Given the description of an element on the screen output the (x, y) to click on. 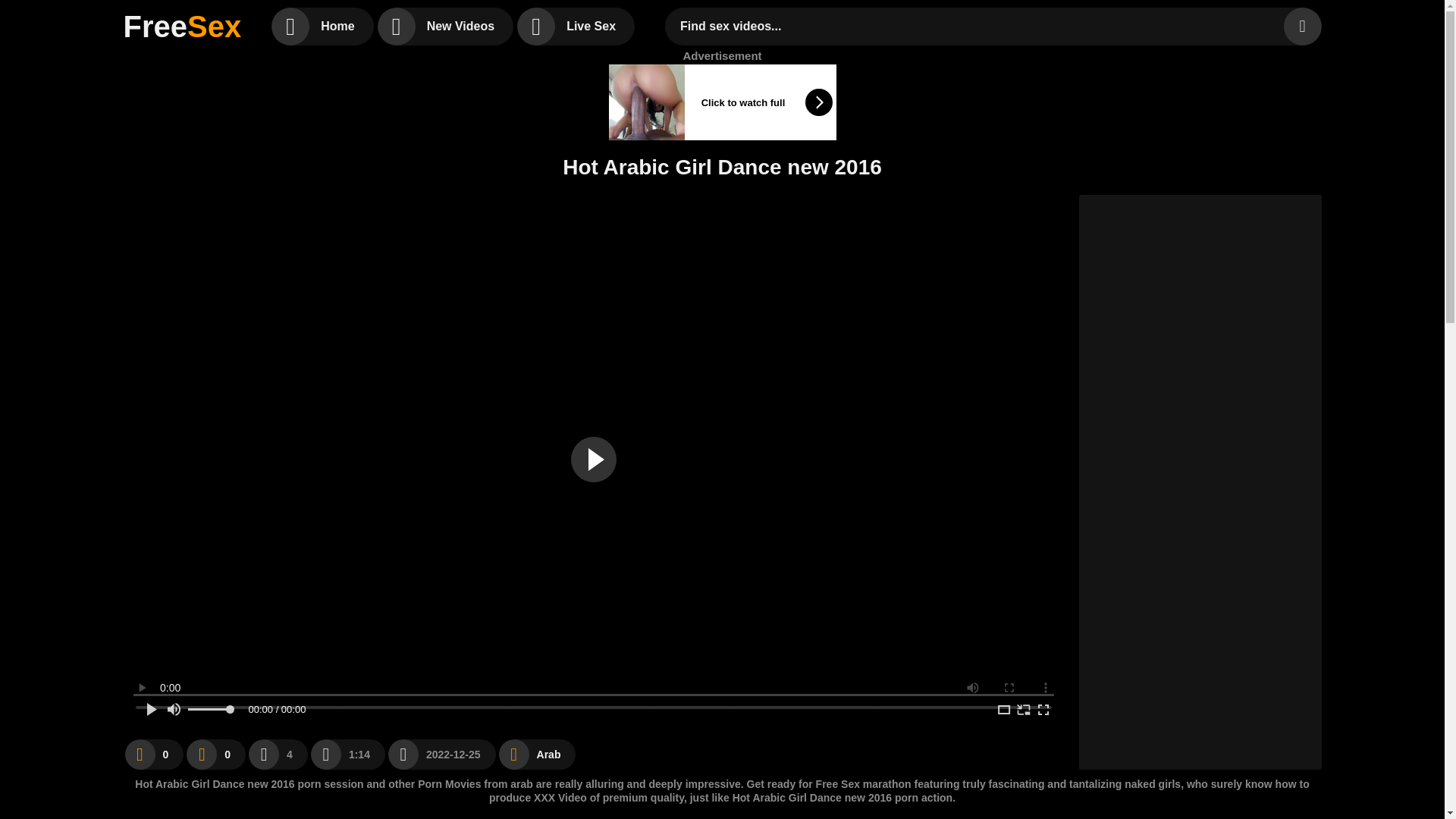
Arab (537, 753)
Live Sex (575, 26)
New Videos (445, 26)
Don't Like It (216, 753)
Use Latin letters, digits, space, - (977, 26)
New Videos (445, 26)
Click to watch full (721, 102)
0 (216, 753)
FreeSex (181, 26)
Like It (153, 753)
